Given the description of an element on the screen output the (x, y) to click on. 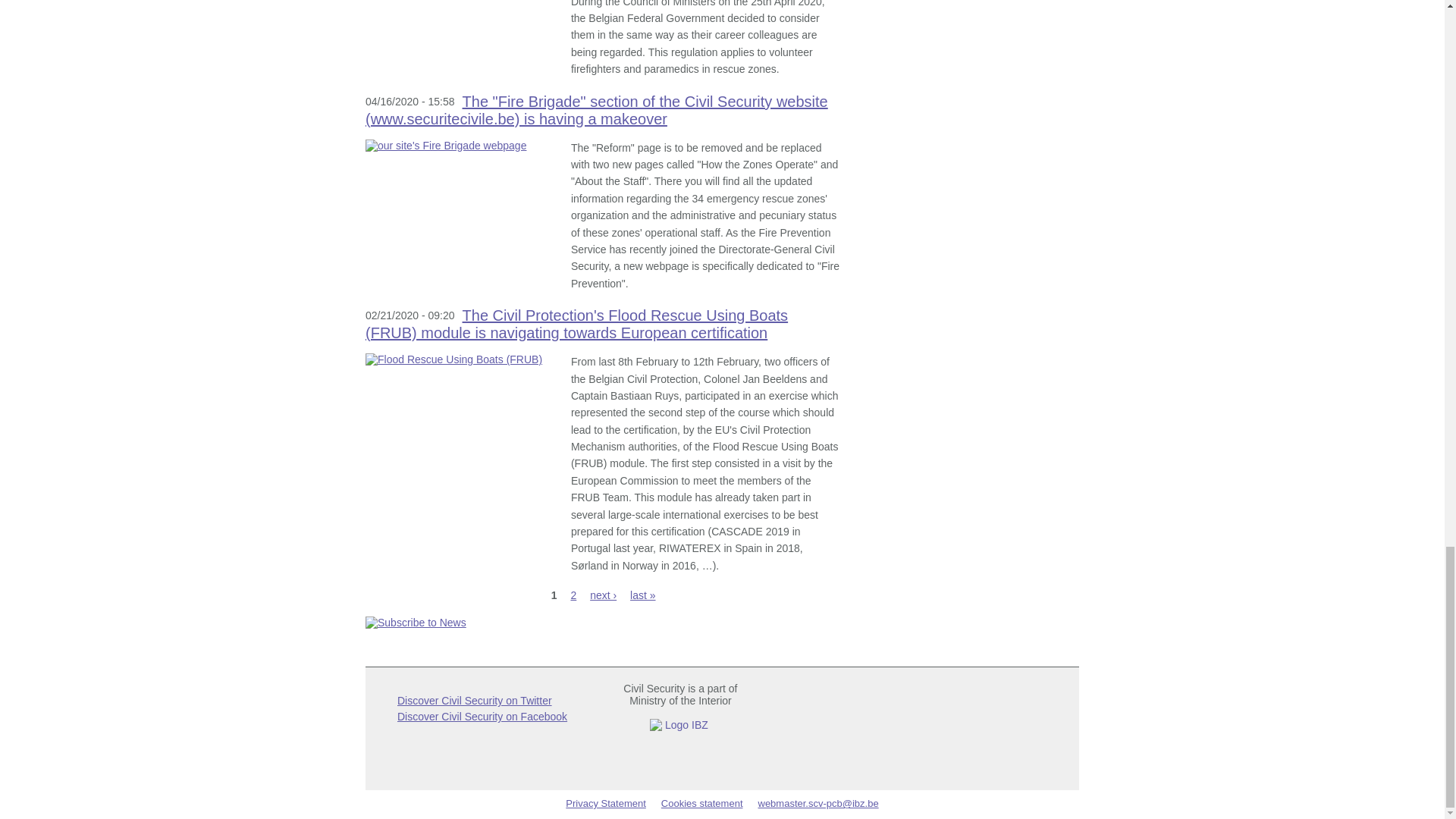
Go to last page (642, 594)
Go to next page (602, 594)
Exercice FRUB (460, 358)
Go to page 2 (573, 594)
Subscribe to News (603, 622)
